Given the description of an element on the screen output the (x, y) to click on. 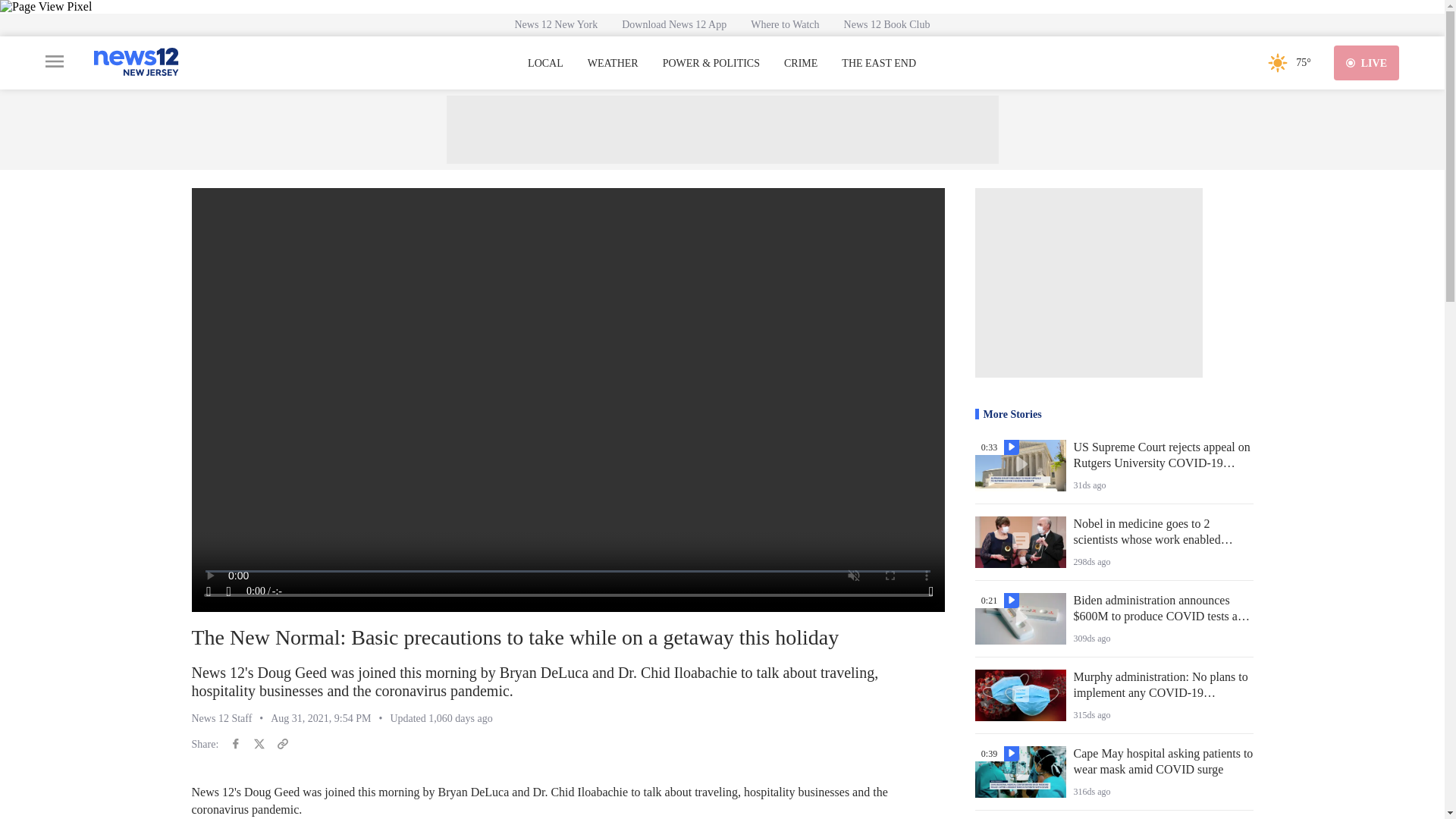
News 12 Book Club (886, 24)
LIVE (1366, 62)
CRIME (800, 63)
THE EAST END (878, 63)
Download News 12 App (673, 24)
Sunny (1277, 62)
WEATHER (613, 63)
LOCAL (545, 63)
News 12 New York (556, 24)
Where to Watch (784, 24)
